Given the description of an element on the screen output the (x, y) to click on. 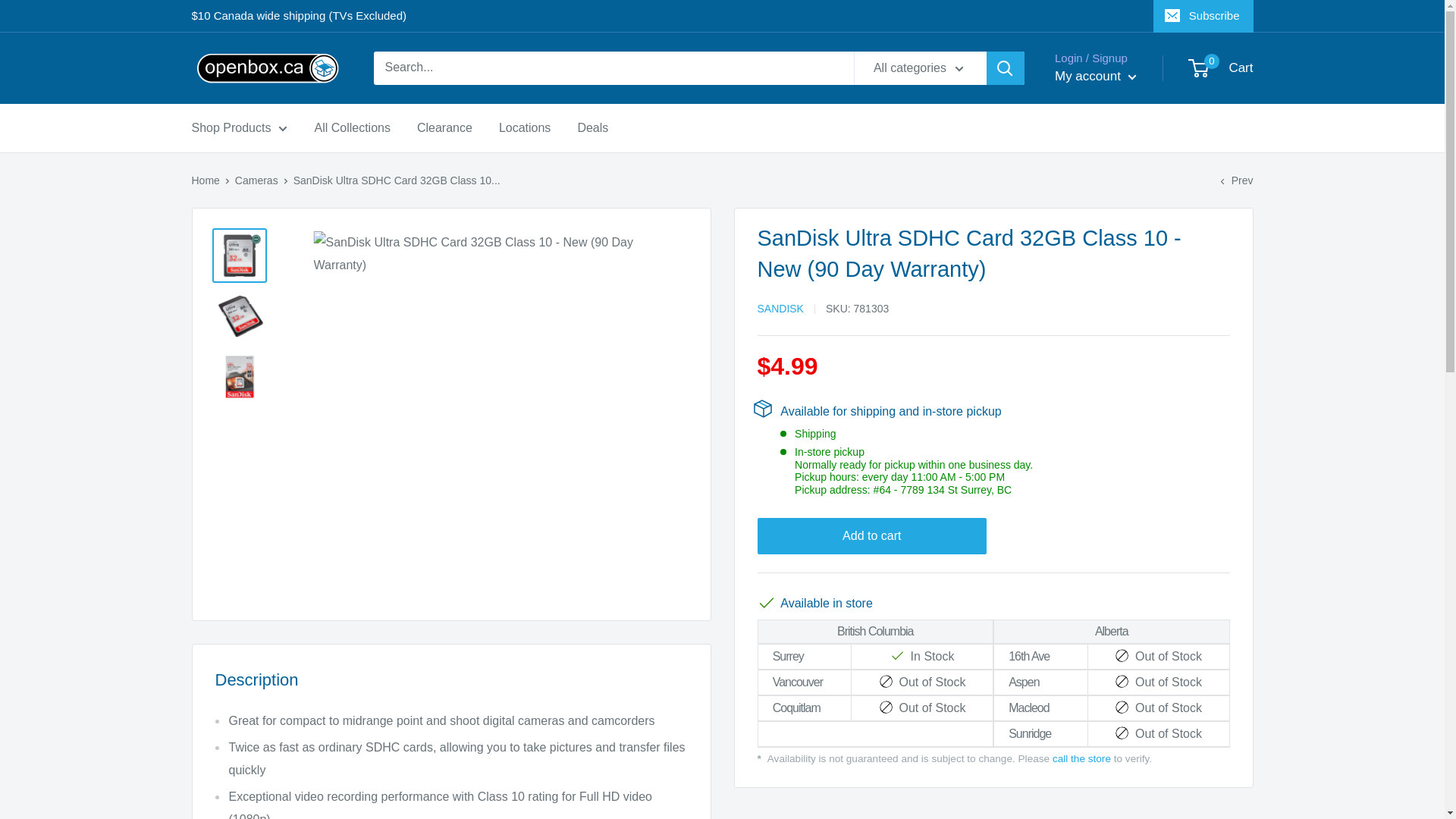
Subscribe (1203, 15)
